Given the description of an element on the screen output the (x, y) to click on. 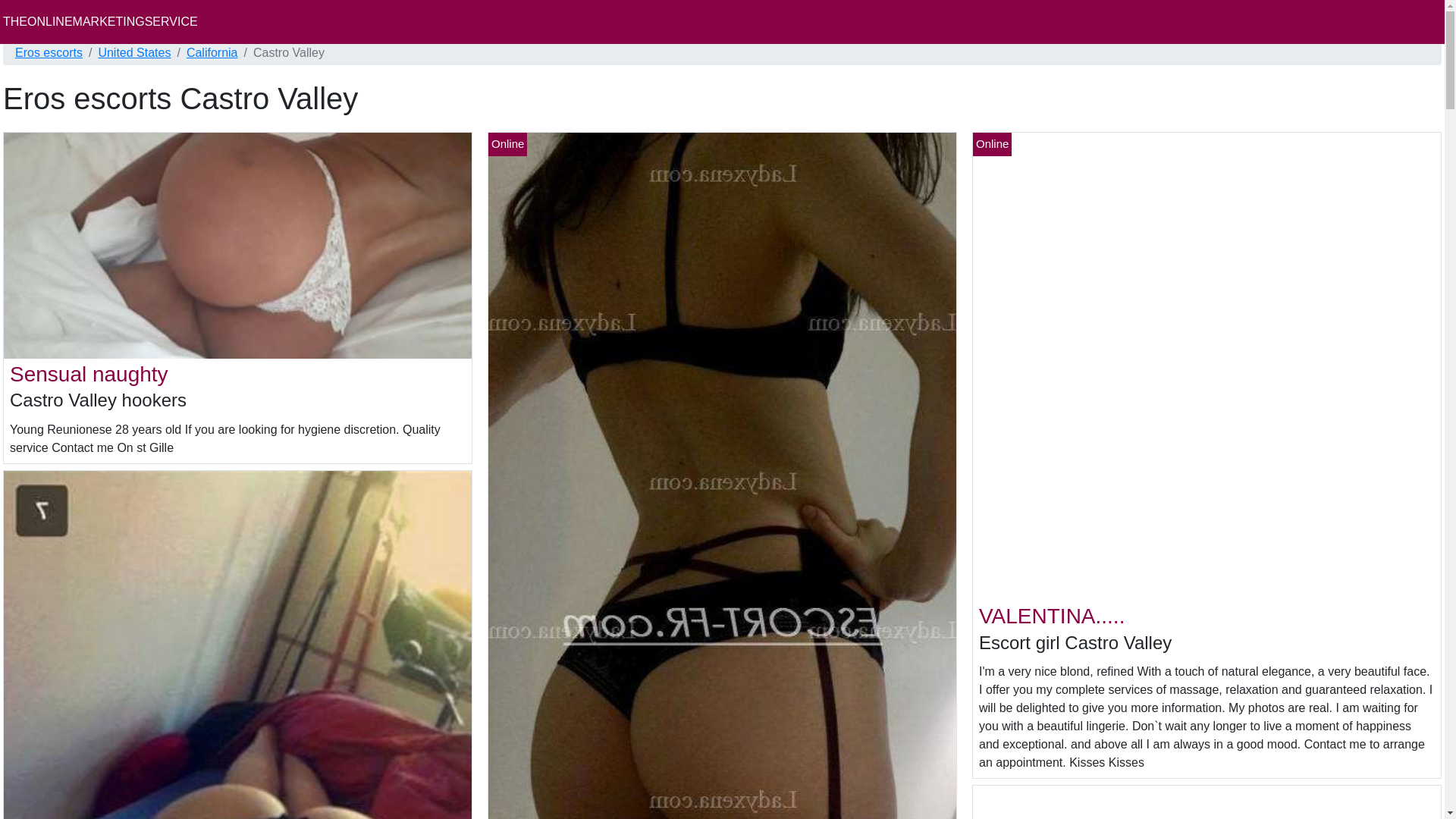
Sensual naughty (89, 373)
VALENTINA..... (1051, 616)
Eros escorts (48, 53)
THEONLINEMARKETINGSERVICE (100, 21)
United States (133, 53)
California (212, 53)
